Given the description of an element on the screen output the (x, y) to click on. 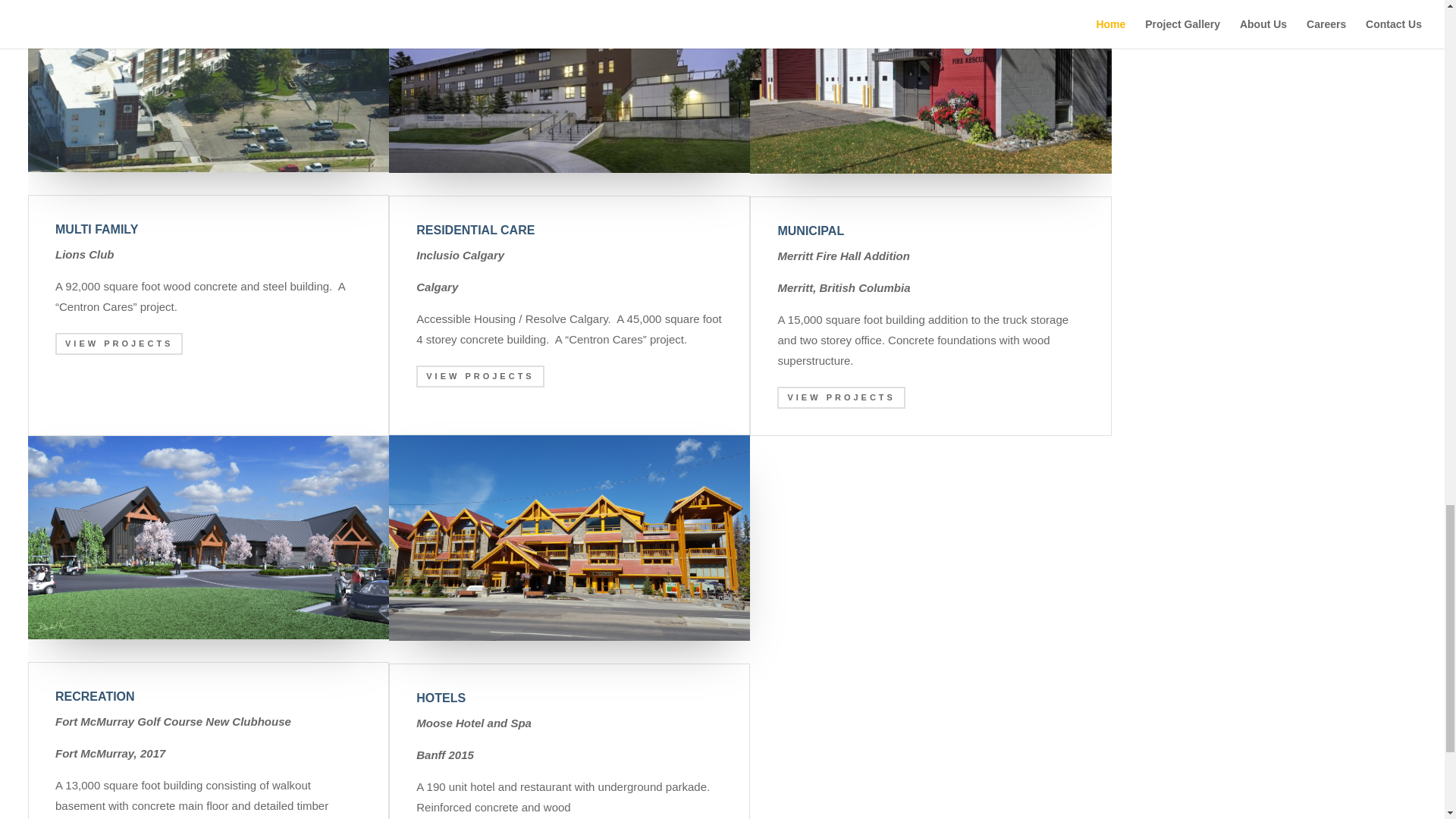
VIEW PROJECTS (119, 343)
VIEW PROJECTS (840, 397)
VIEW PROJECTS (479, 376)
